Given the description of an element on the screen output the (x, y) to click on. 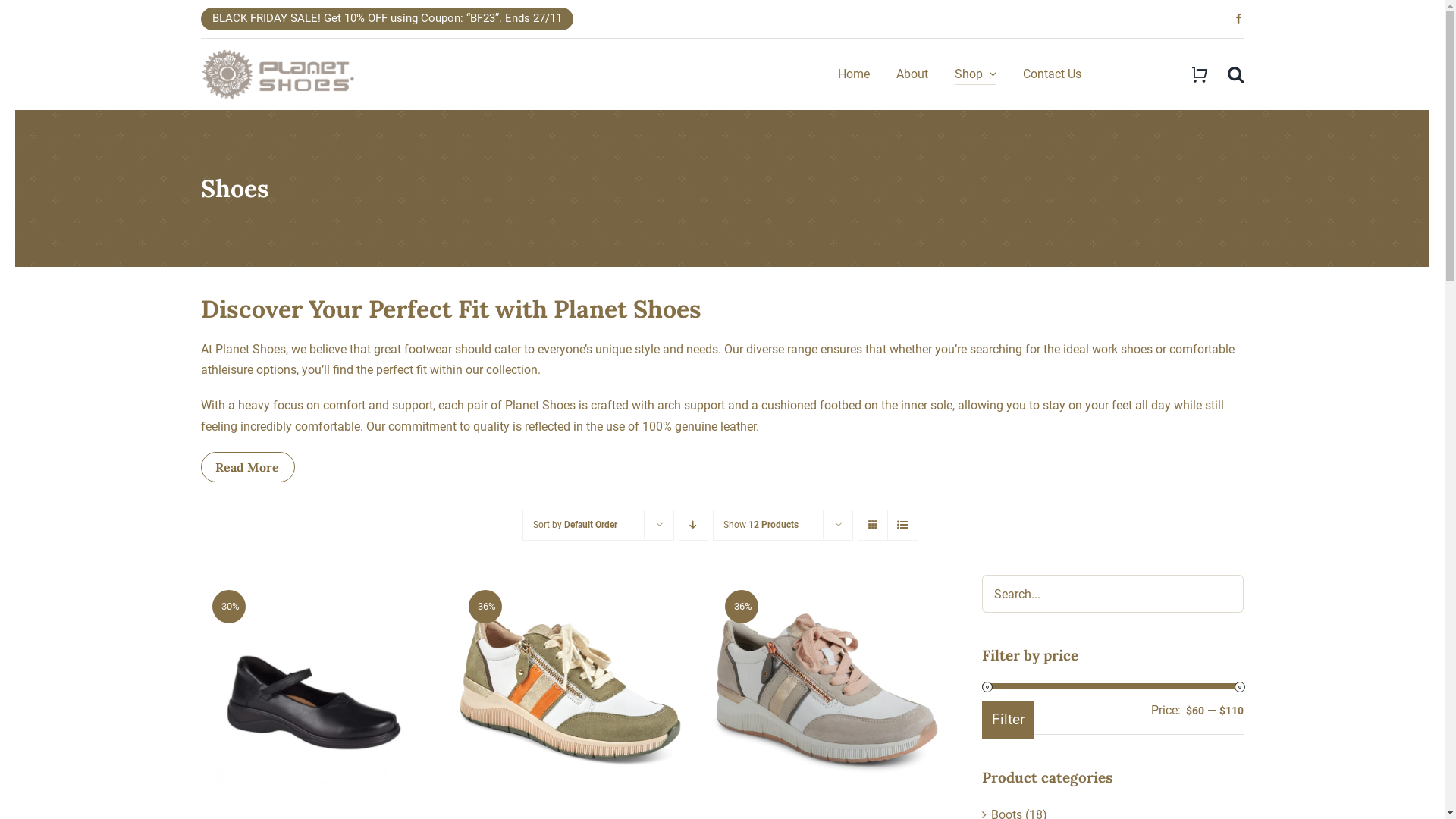
About Element type: text (912, 73)
Home Element type: text (853, 73)
Read More Element type: text (247, 467)
Facebook Element type: hover (1238, 18)
Sort by Default Order Element type: text (574, 524)
Contact Us Element type: text (1051, 73)
Search Element type: hover (1235, 74)
Show 12 Products Element type: text (760, 524)
Filter Element type: text (1008, 719)
Shop Element type: text (975, 73)
